Given the description of an element on the screen output the (x, y) to click on. 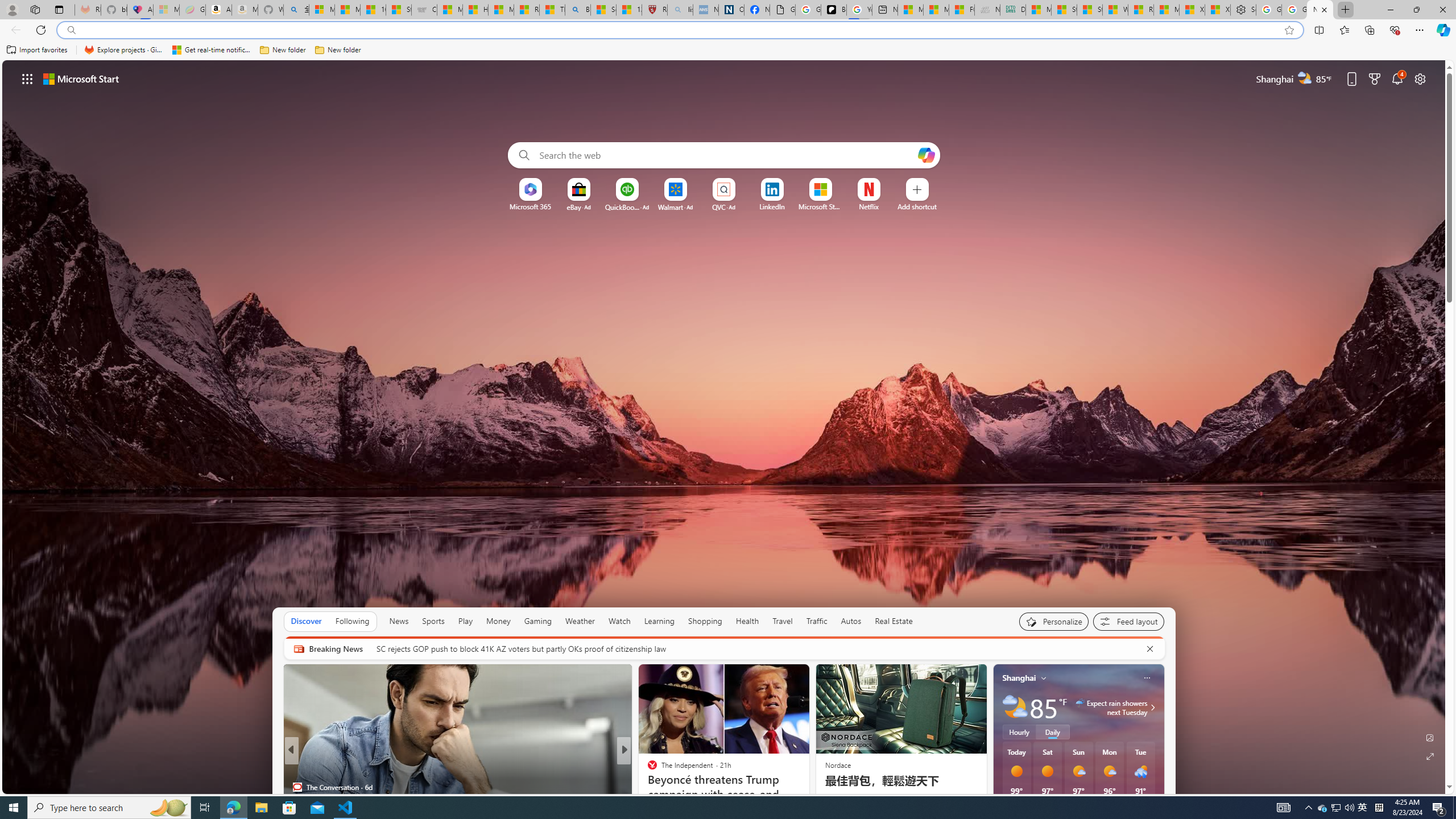
Import favorites (36, 49)
Class: weather-arrow-glyph (1152, 707)
BuzzFeed (647, 786)
Axios (647, 768)
